Given the description of an element on the screen output the (x, y) to click on. 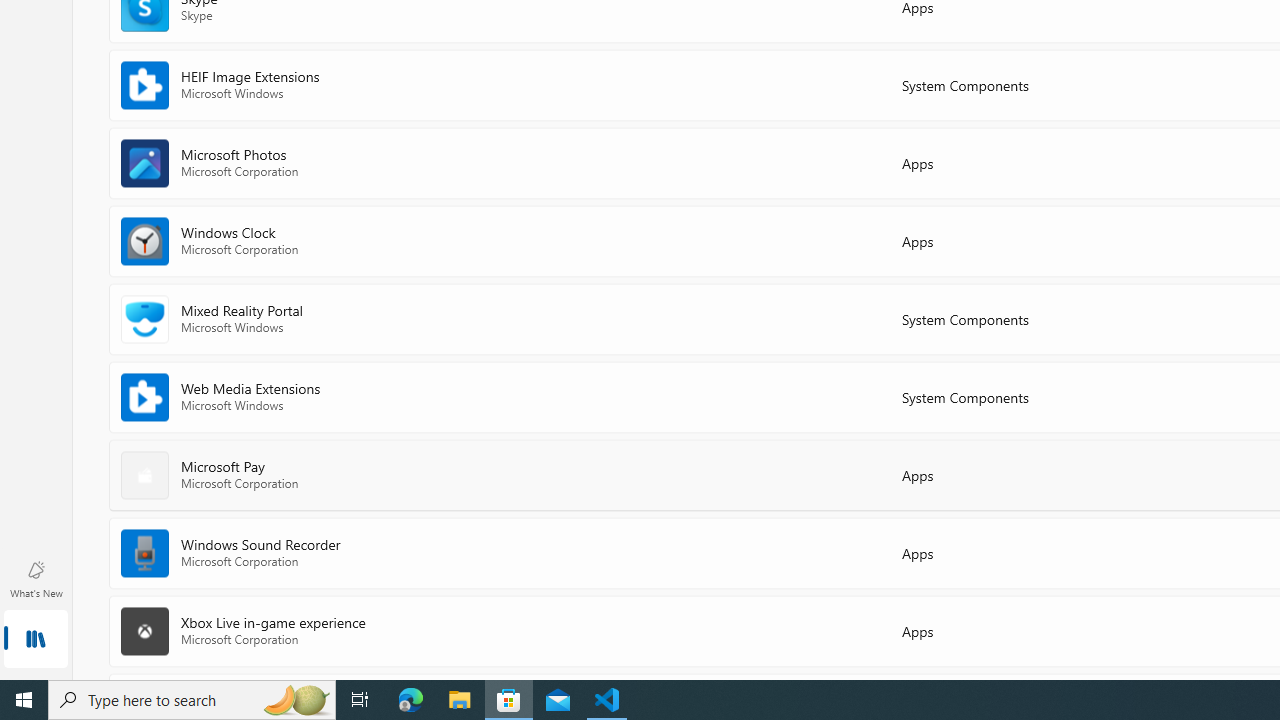
Library (35, 640)
What's New (35, 578)
